Given the description of an element on the screen output the (x, y) to click on. 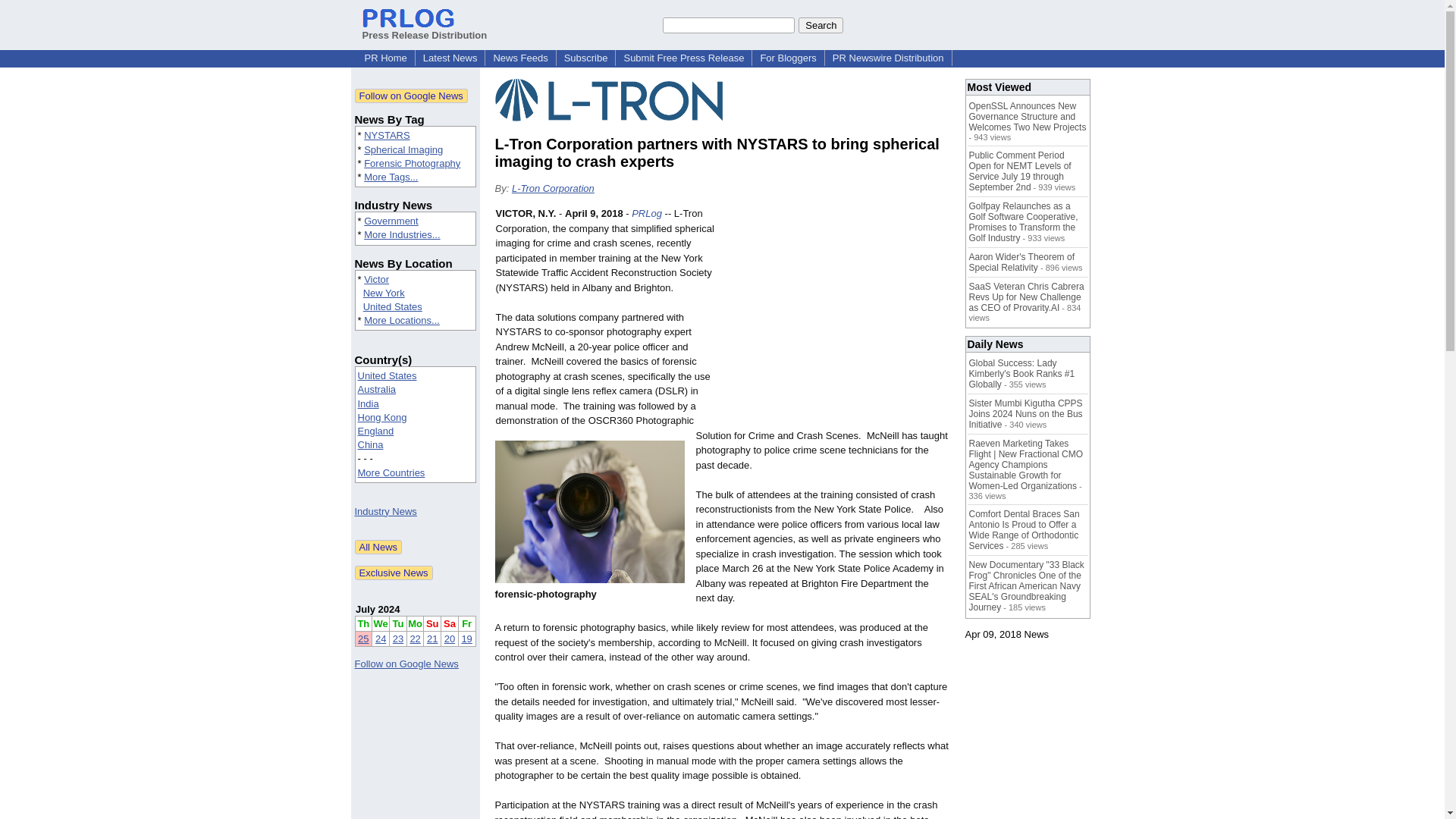
PR Home (385, 57)
Spherical Imaging (403, 149)
England (376, 430)
Government (391, 220)
Exclusive News (393, 572)
More Industries... (401, 234)
20 (449, 638)
More Tags... (390, 176)
Submit Free Press Release (683, 57)
22 (414, 638)
Advertisement (835, 317)
Forensic Photography (412, 163)
July 2024 (377, 609)
All News (379, 546)
More Locations... (401, 319)
